Given the description of an element on the screen output the (x, y) to click on. 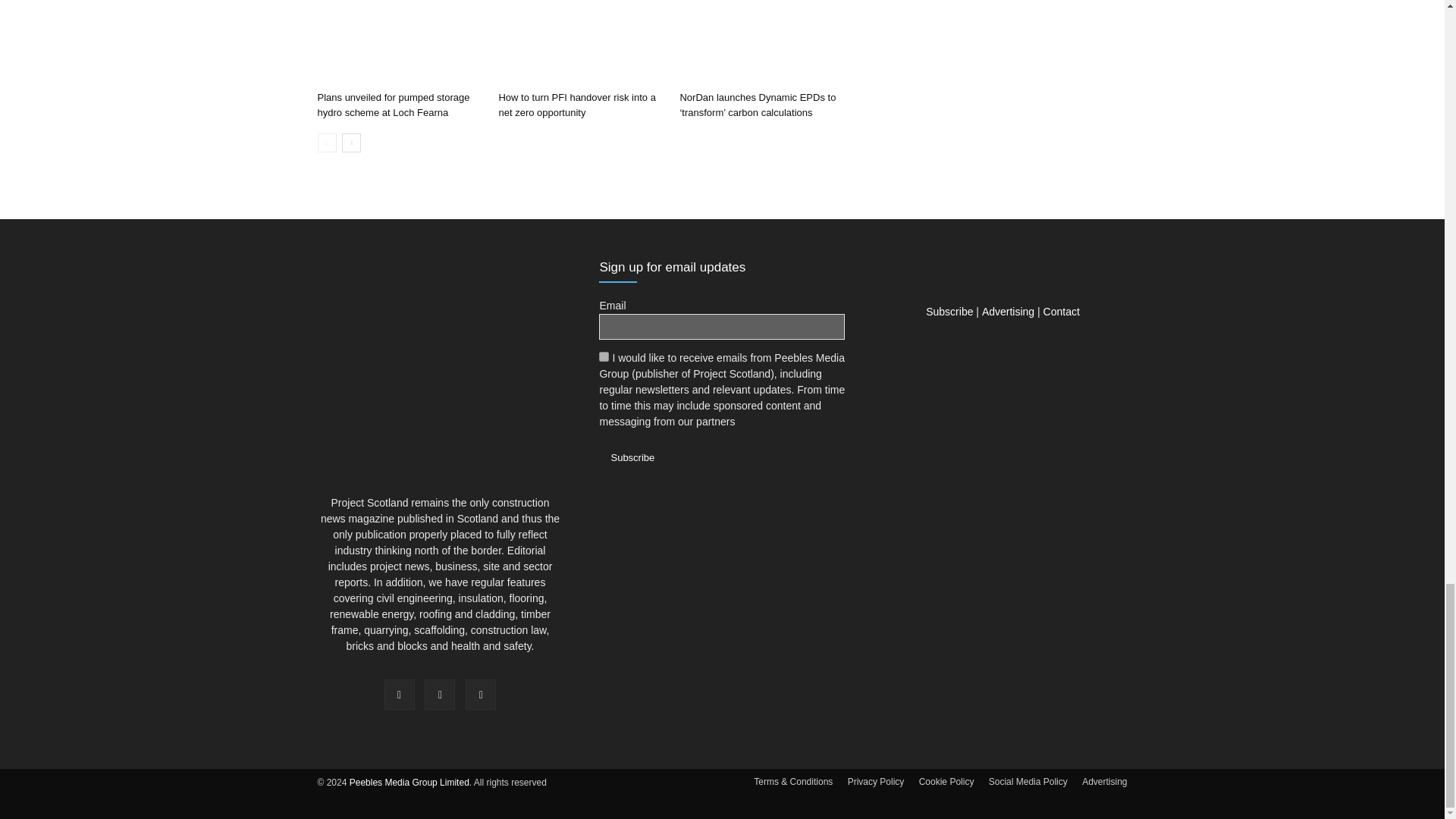
on (603, 356)
Subscribe (631, 457)
